Given the description of an element on the screen output the (x, y) to click on. 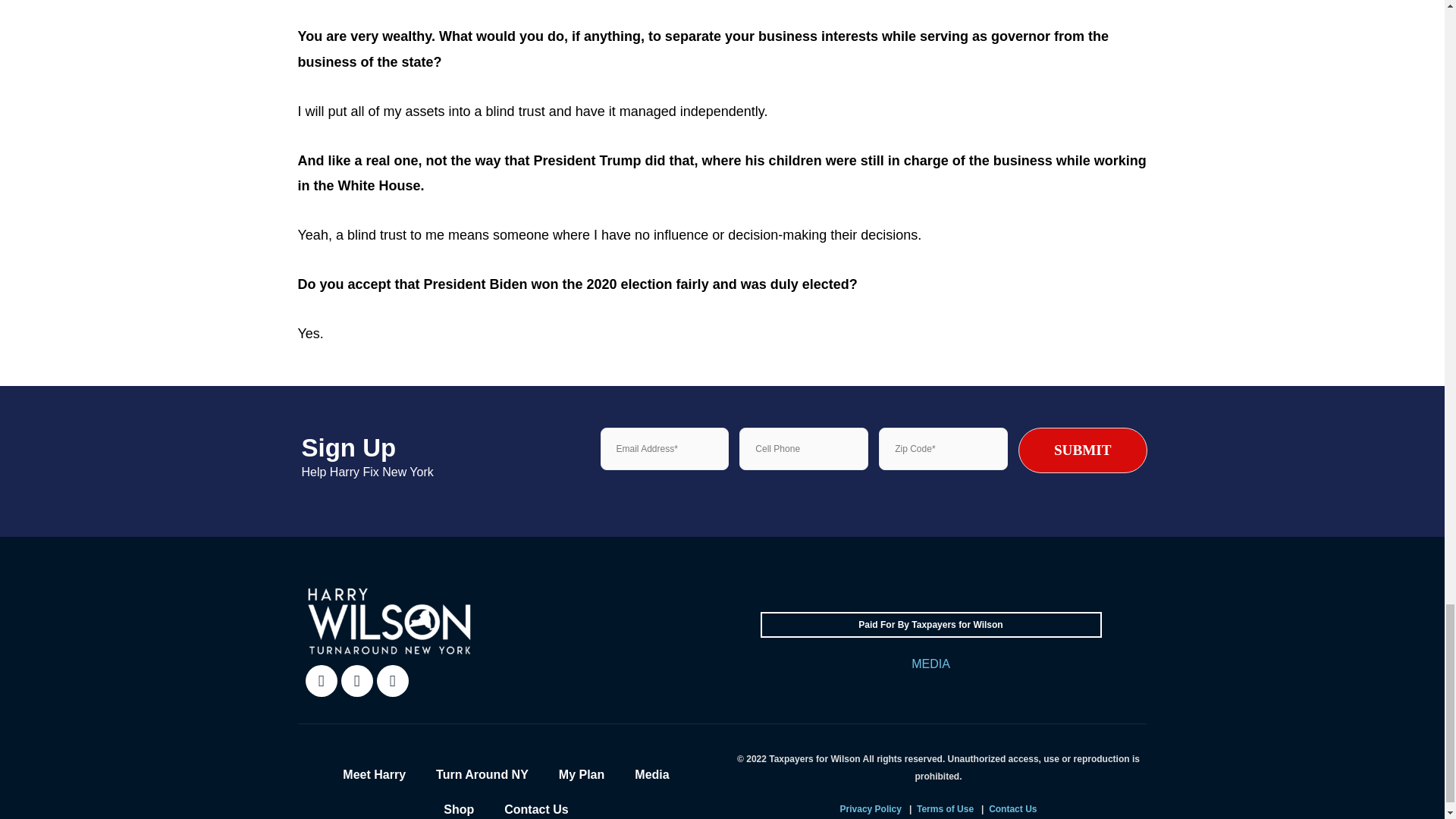
Submit (641, 514)
SUBMIT (1082, 450)
